Given the description of an element on the screen output the (x, y) to click on. 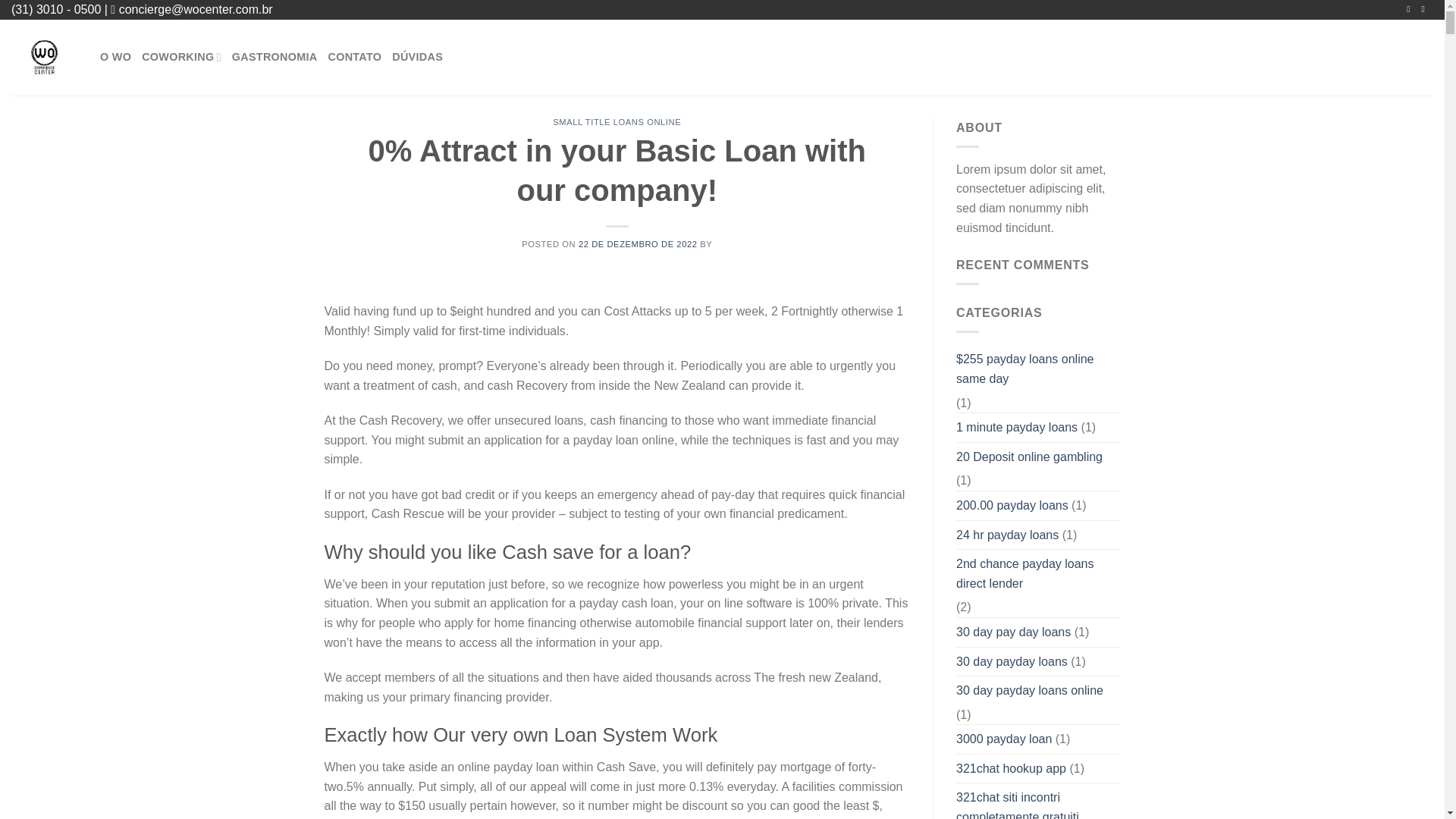
2nd chance payday loans direct lender (1038, 573)
SMALL TITLE LOANS ONLINE (617, 121)
30 day payday loans online (1029, 690)
3000 payday loan (1003, 738)
30 day pay day loans (1013, 632)
30 day payday loans (1011, 661)
200.00 payday loans (1012, 505)
24 hr payday loans (1007, 534)
1 minute payday loans (1016, 427)
22 DE DEZEMBRO DE 2022 (637, 243)
